Given the description of an element on the screen output the (x, y) to click on. 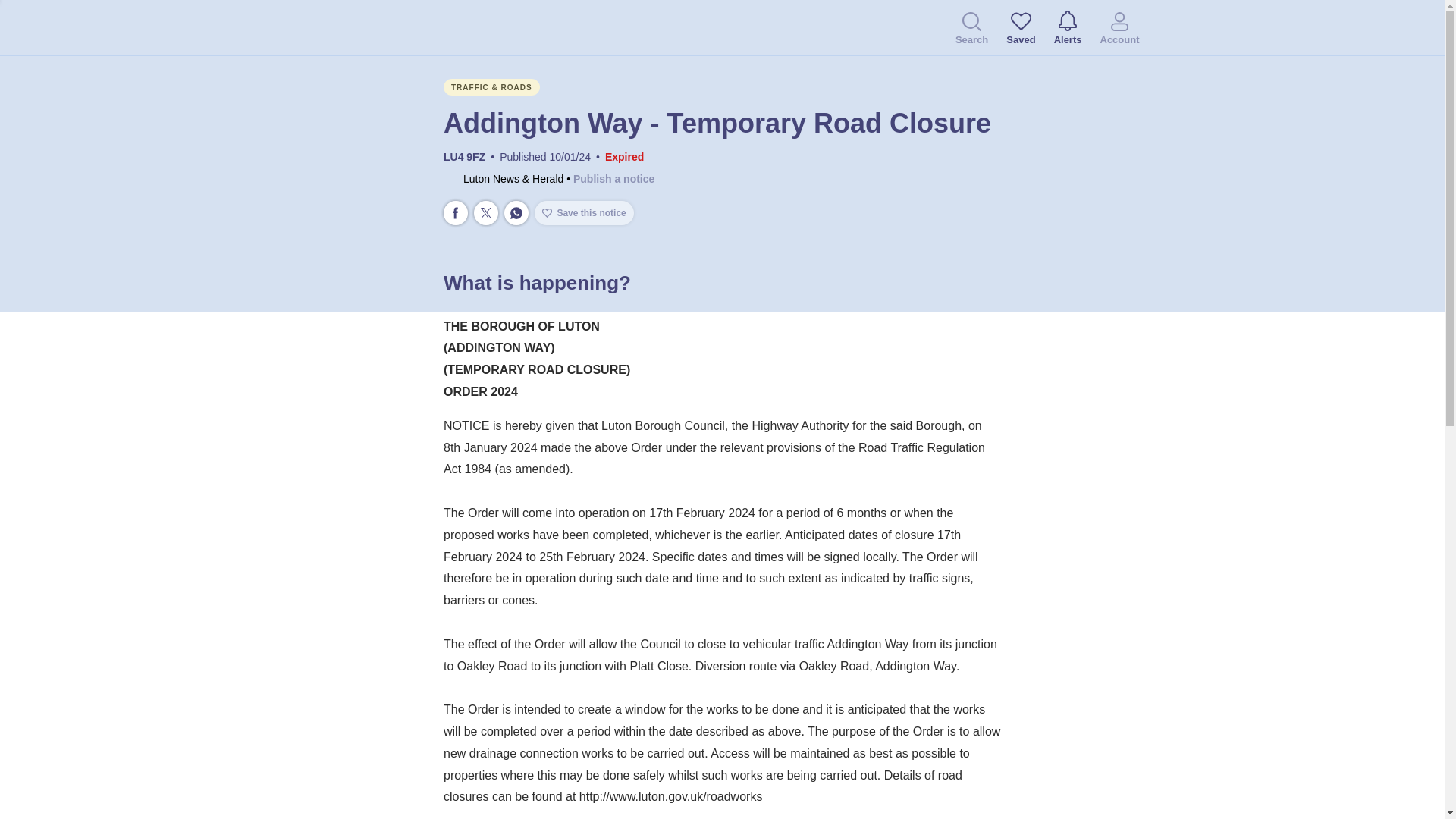
Account (1118, 29)
Save this notice (583, 212)
Publish a notice (613, 179)
Search (971, 29)
